Given the description of an element on the screen output the (x, y) to click on. 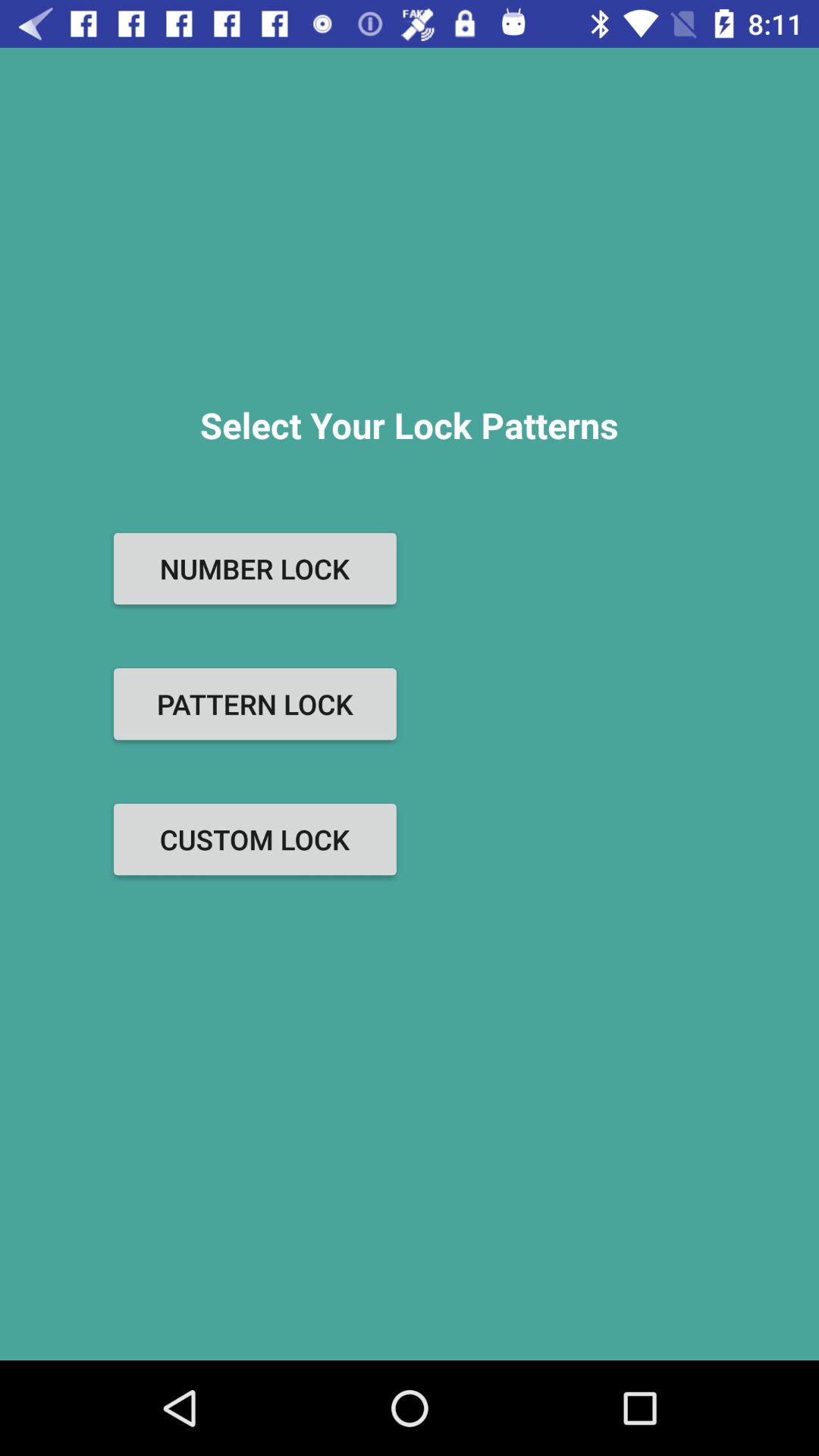
launch item above the custom lock (254, 703)
